Given the description of an element on the screen output the (x, y) to click on. 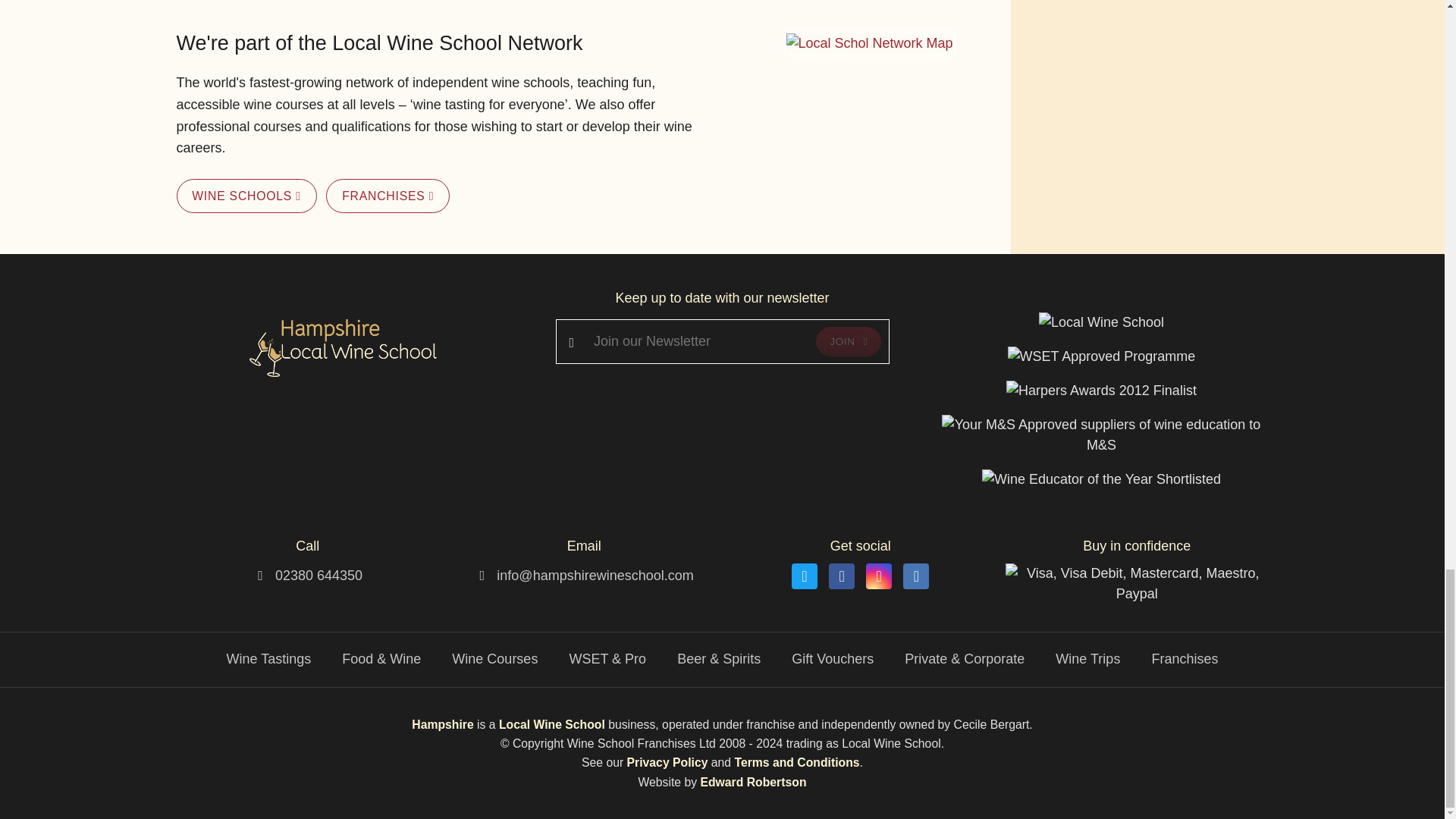
Send us an email (594, 575)
Visit our Facebook (841, 575)
Visit our Instagram (878, 575)
Visit our Twitter (804, 575)
Call us (318, 575)
Visit our LinkedIn (915, 575)
